Given the description of an element on the screen output the (x, y) to click on. 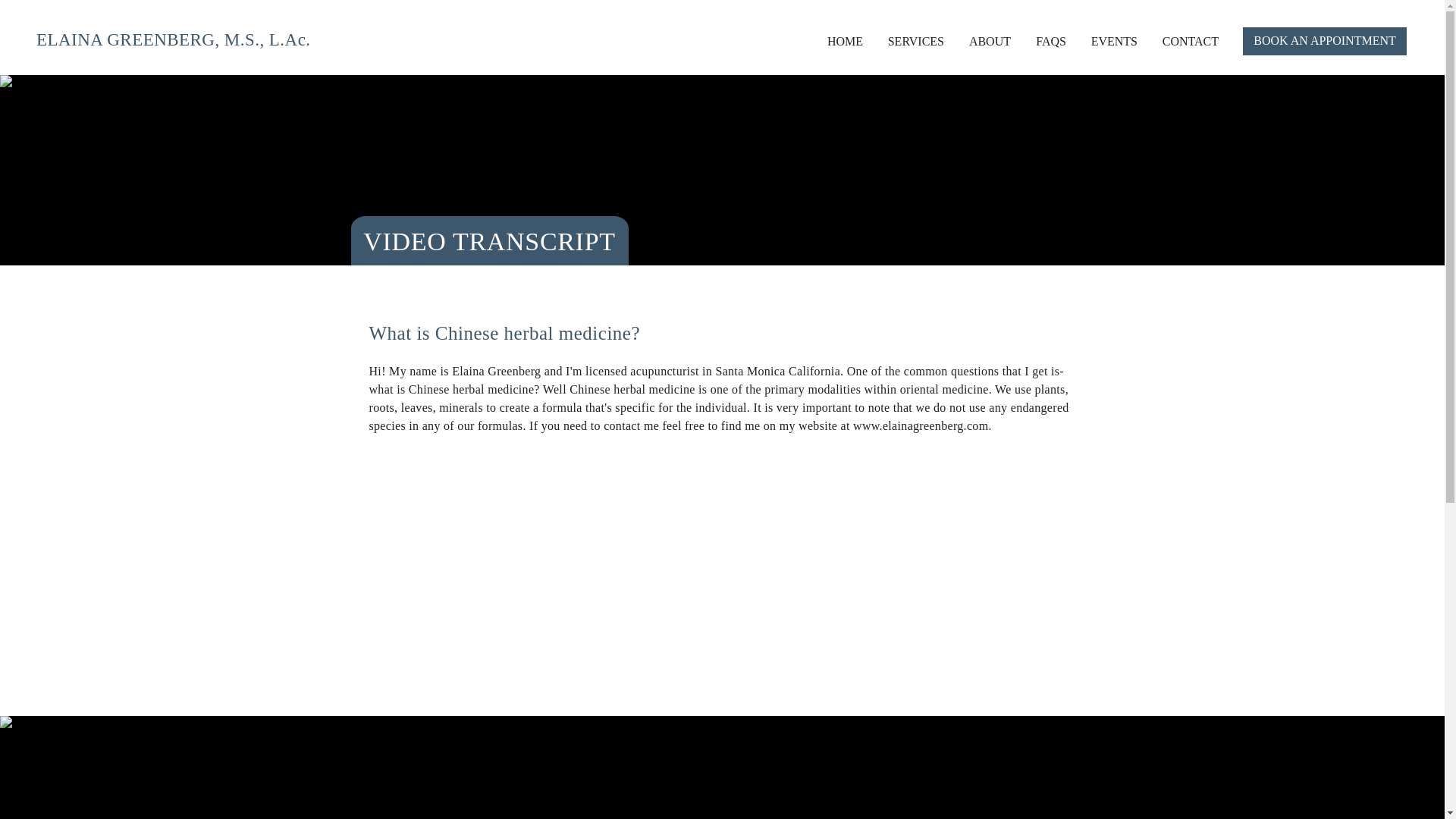
FAQS (1045, 41)
CONTACT (1184, 41)
www.elainagreenberg.com (920, 424)
BOOK AN APPOINTMENT (1324, 41)
ELAINA GREENBERG, M.S., L.Ac. (173, 39)
EVENTS (1109, 41)
HOME (839, 41)
